Given the description of an element on the screen output the (x, y) to click on. 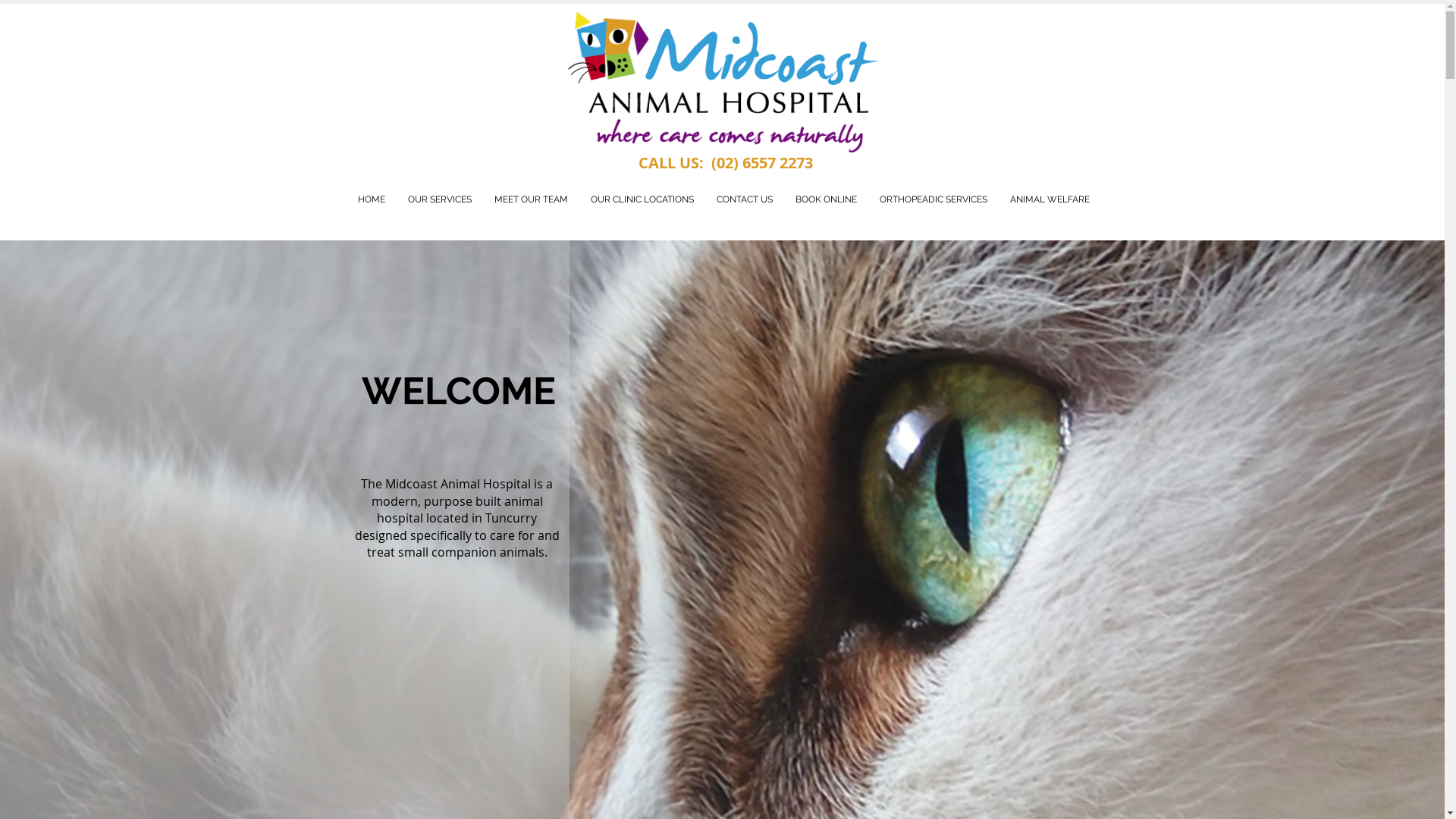
HOME Element type: text (370, 199)
BOOK ONLINE Element type: text (826, 199)
OUR SERVICES Element type: text (438, 199)
ANIMAL WELFARE Element type: text (1048, 199)
CONTACT US Element type: text (744, 199)
OUR CLINIC LOCATIONS Element type: text (642, 199)
ORTHOPEADIC SERVICES Element type: text (932, 199)
MEET OUR TEAM Element type: text (530, 199)
